Given the description of an element on the screen output the (x, y) to click on. 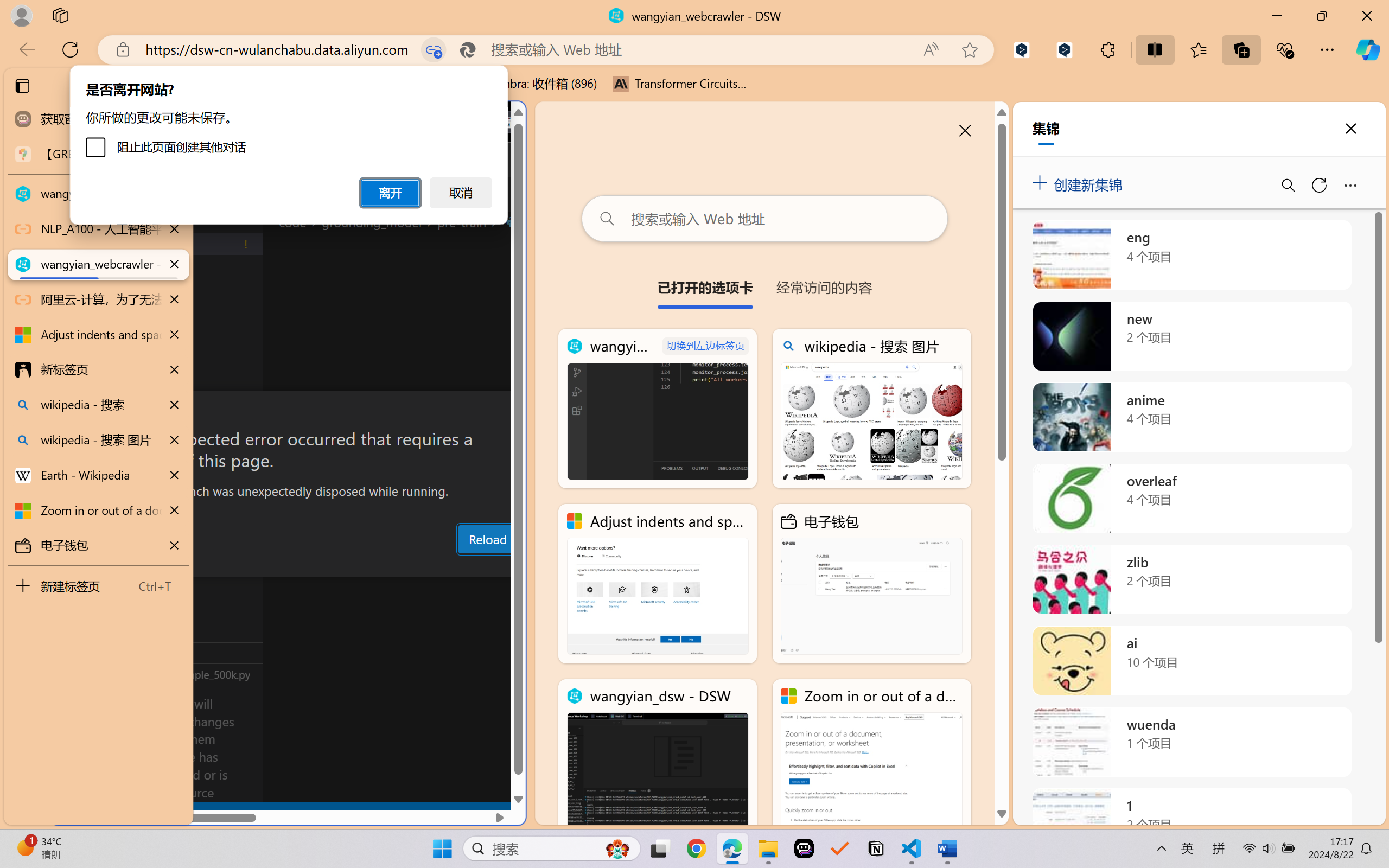
Reload (486, 538)
Run and Debug (Ctrl+Shift+D) (73, 375)
wangyian_dsw - DSW (657, 758)
Terminal (Ctrl+`) (553, 565)
wangyian_webcrawler - DSW (657, 408)
Adjust indents and spacing - Microsoft Support (657, 583)
